Given the description of an element on the screen output the (x, y) to click on. 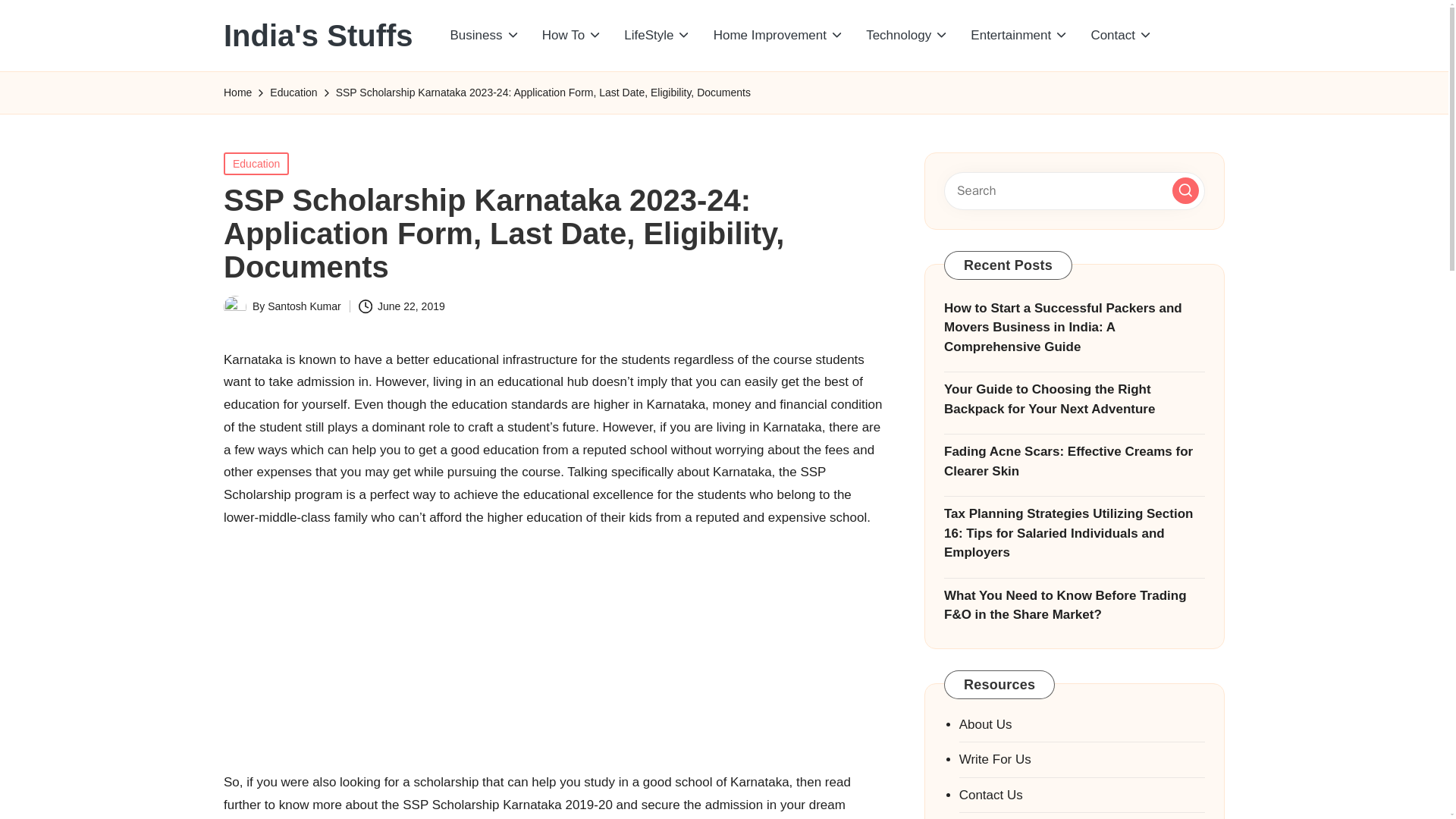
India's Stuffs (318, 35)
Advertisement (555, 645)
View all posts by Santosh Kumar (303, 306)
